Given the description of an element on the screen output the (x, y) to click on. 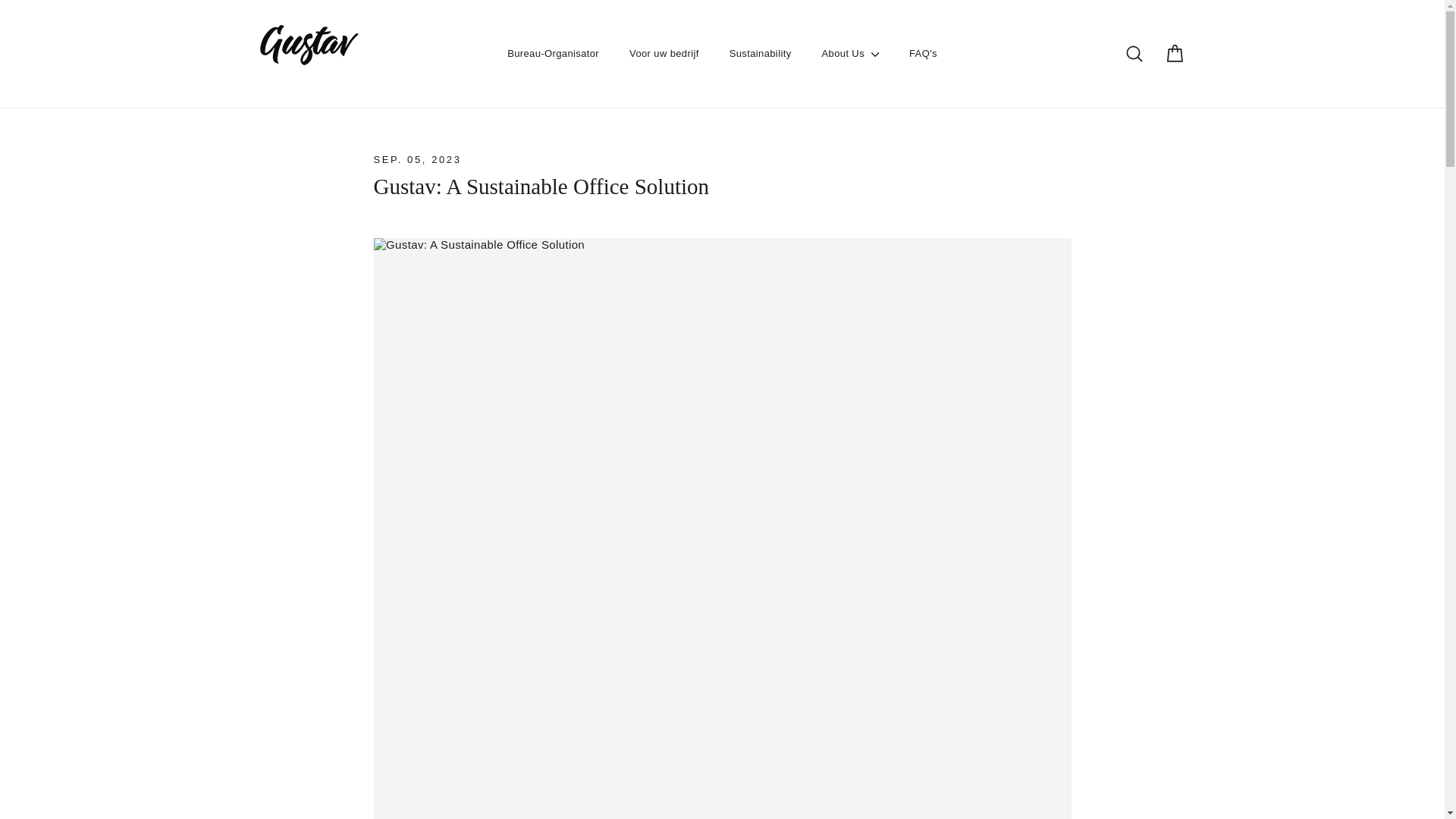
icon-search (1134, 76)
Sustainability (760, 76)
Learn more (872, 791)
FAQ's (922, 76)
Bureau-Organisator (553, 76)
Decline (1305, 791)
Accept (1371, 791)
Cart (1173, 76)
icon-X (1429, 11)
Voor uw bedrijf (664, 76)
